Given the description of an element on the screen output the (x, y) to click on. 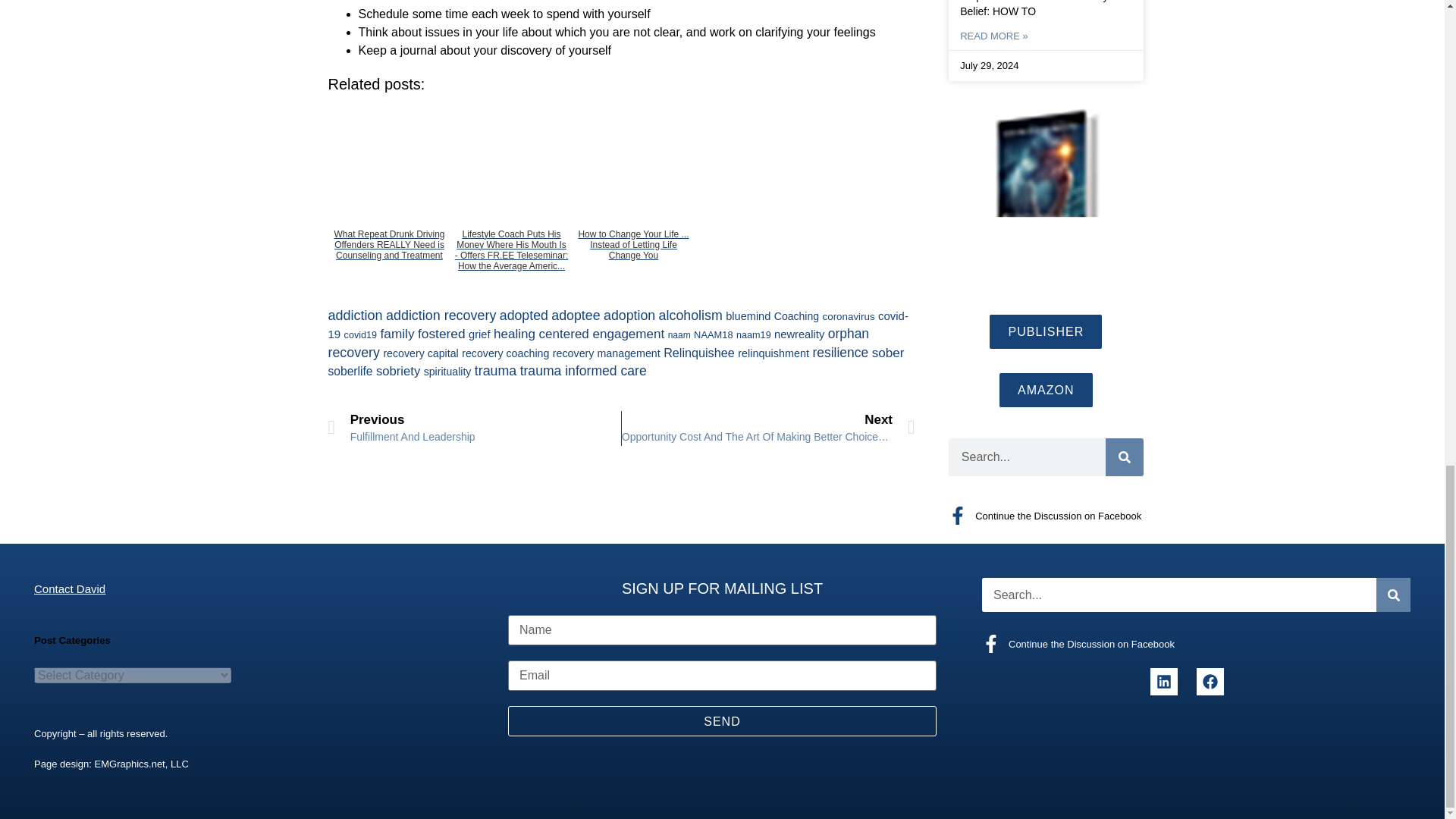
adoption (629, 314)
Coaching (796, 316)
addiction recovery (440, 314)
bluemind (747, 316)
addiction (354, 314)
adoptee (575, 314)
adopted (523, 314)
alcoholism (690, 314)
